Given the description of an element on the screen output the (x, y) to click on. 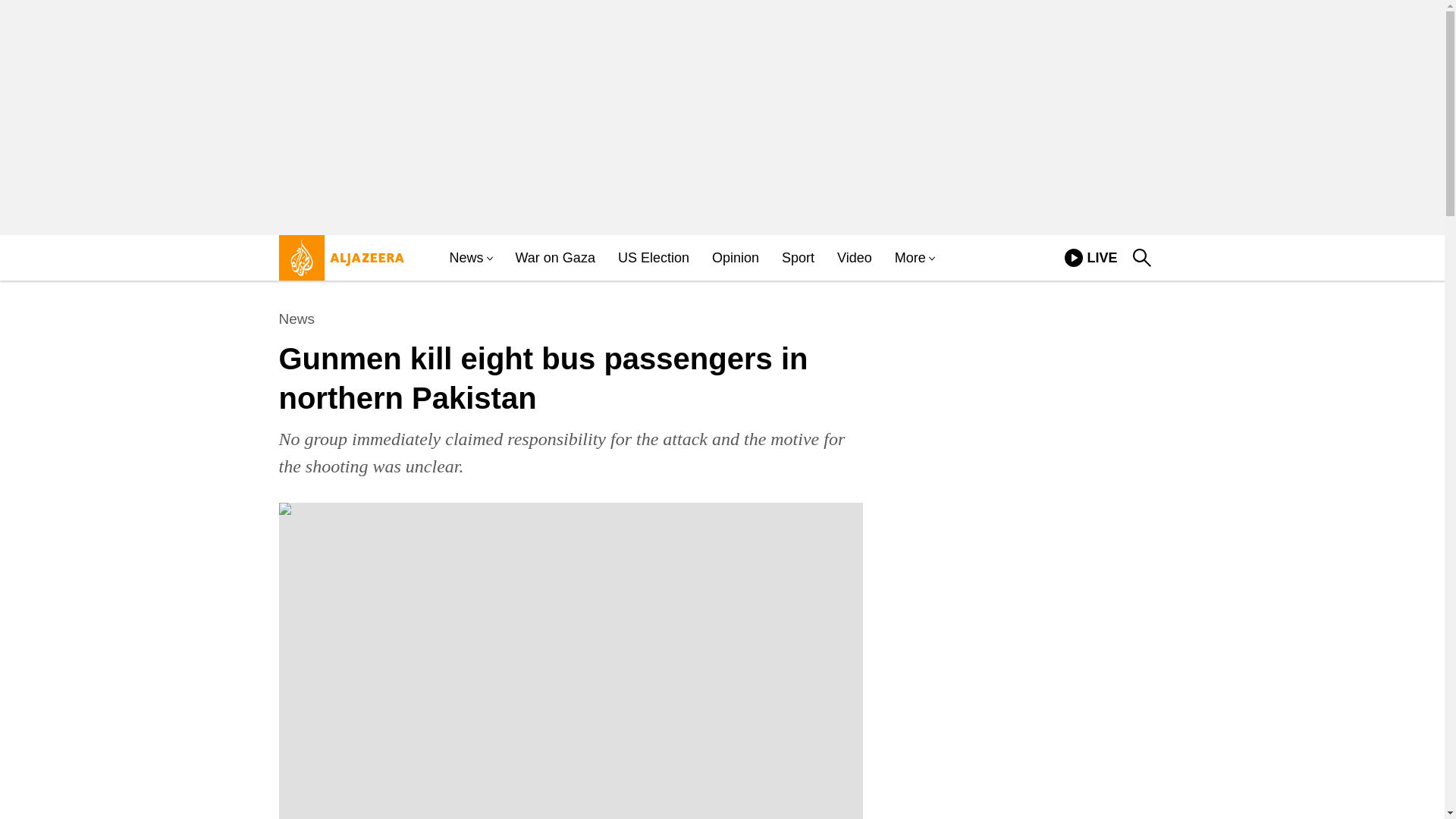
US Election (652, 257)
More (910, 257)
search (1141, 257)
Video (854, 257)
News (1090, 257)
War on Gaza (297, 319)
Opinion (555, 257)
Sport (734, 257)
Skip to Content (797, 257)
